Given the description of an element on the screen output the (x, y) to click on. 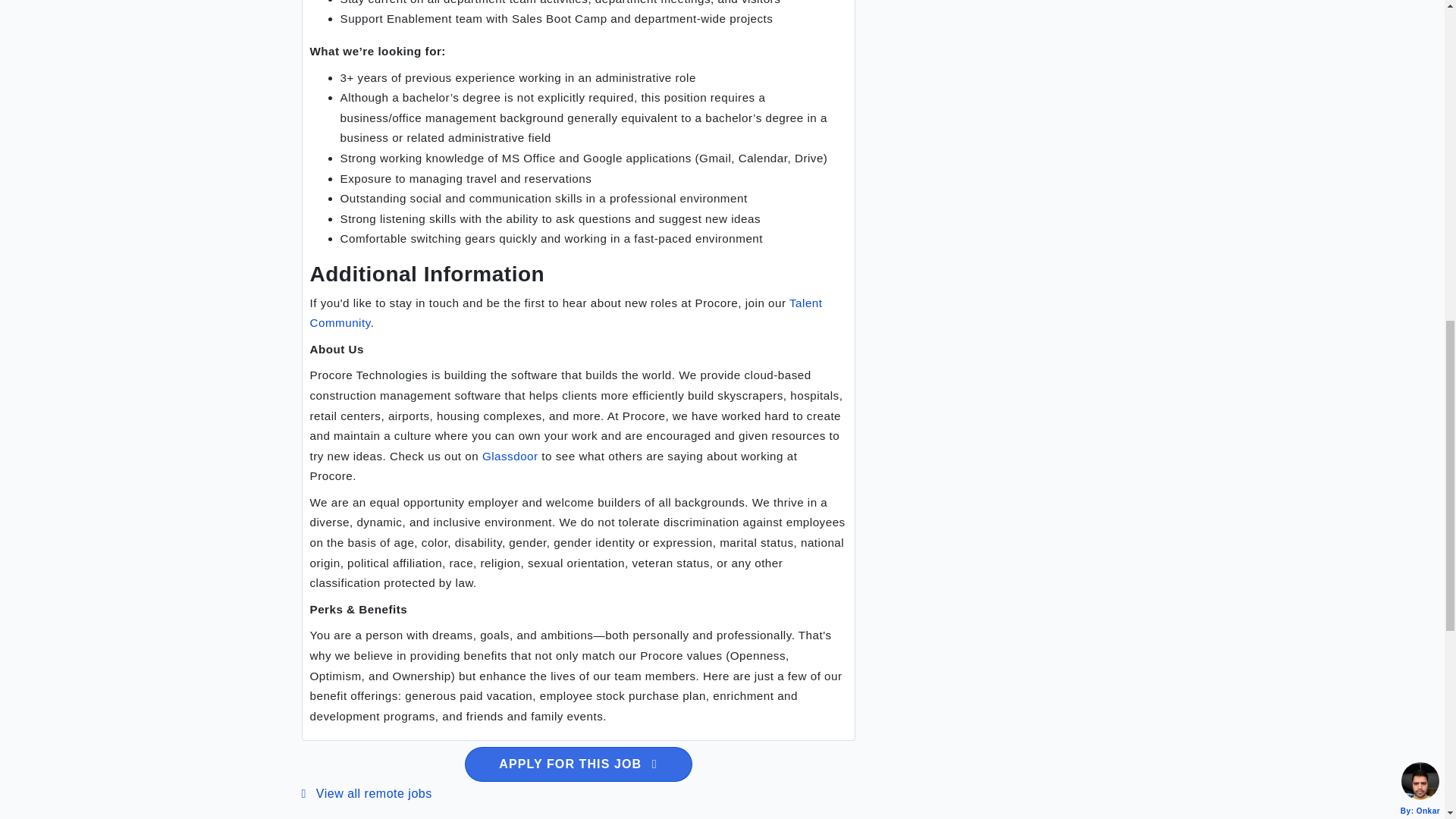
Glassdoor (508, 455)
APPLY FOR THIS JOB (577, 764)
Talent Community (565, 313)
Click to apply for the remote job (577, 764)
View all remote jobs (366, 793)
